Given the description of an element on the screen output the (x, y) to click on. 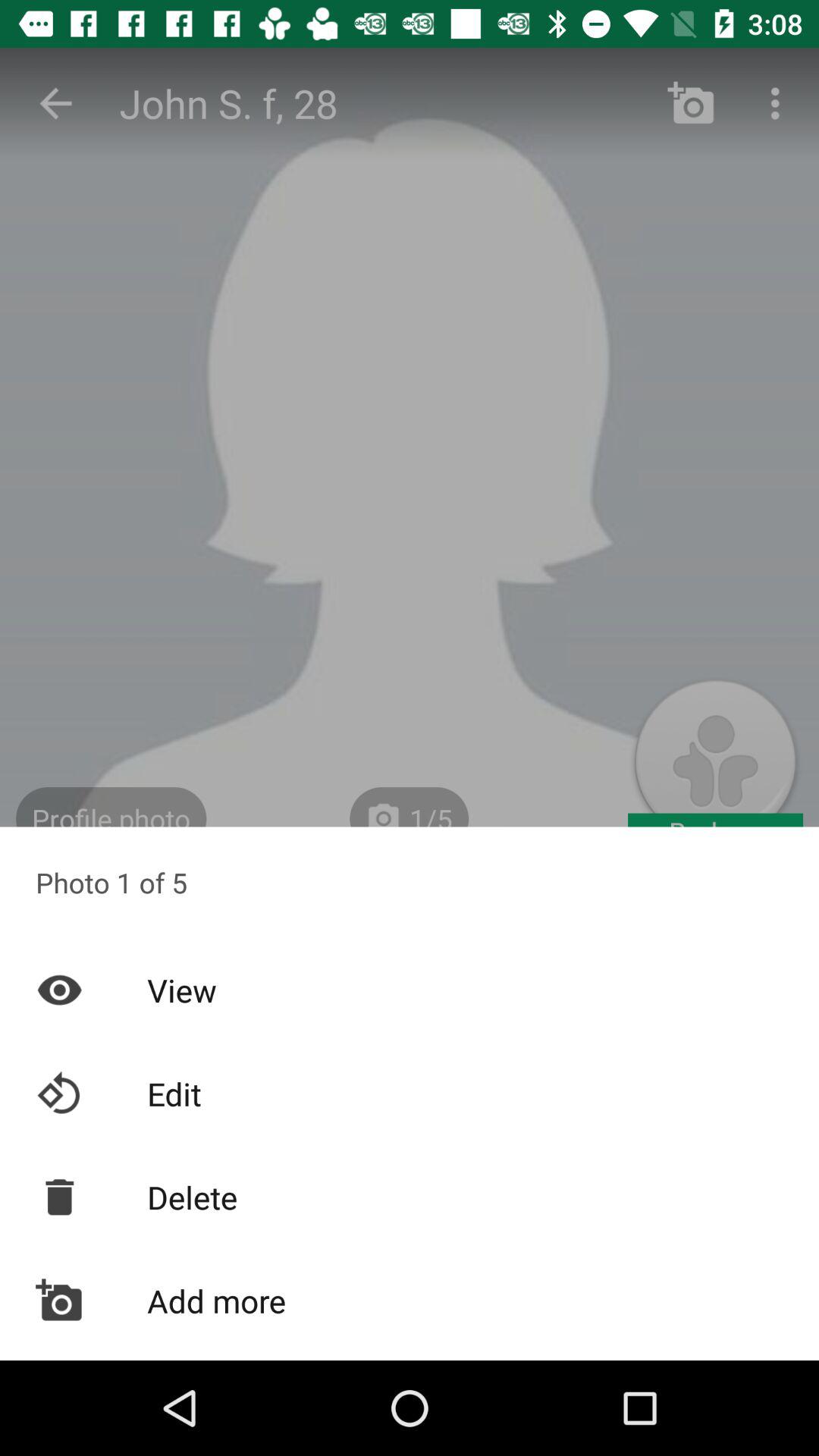
flip to delete icon (409, 1196)
